Given the description of an element on the screen output the (x, y) to click on. 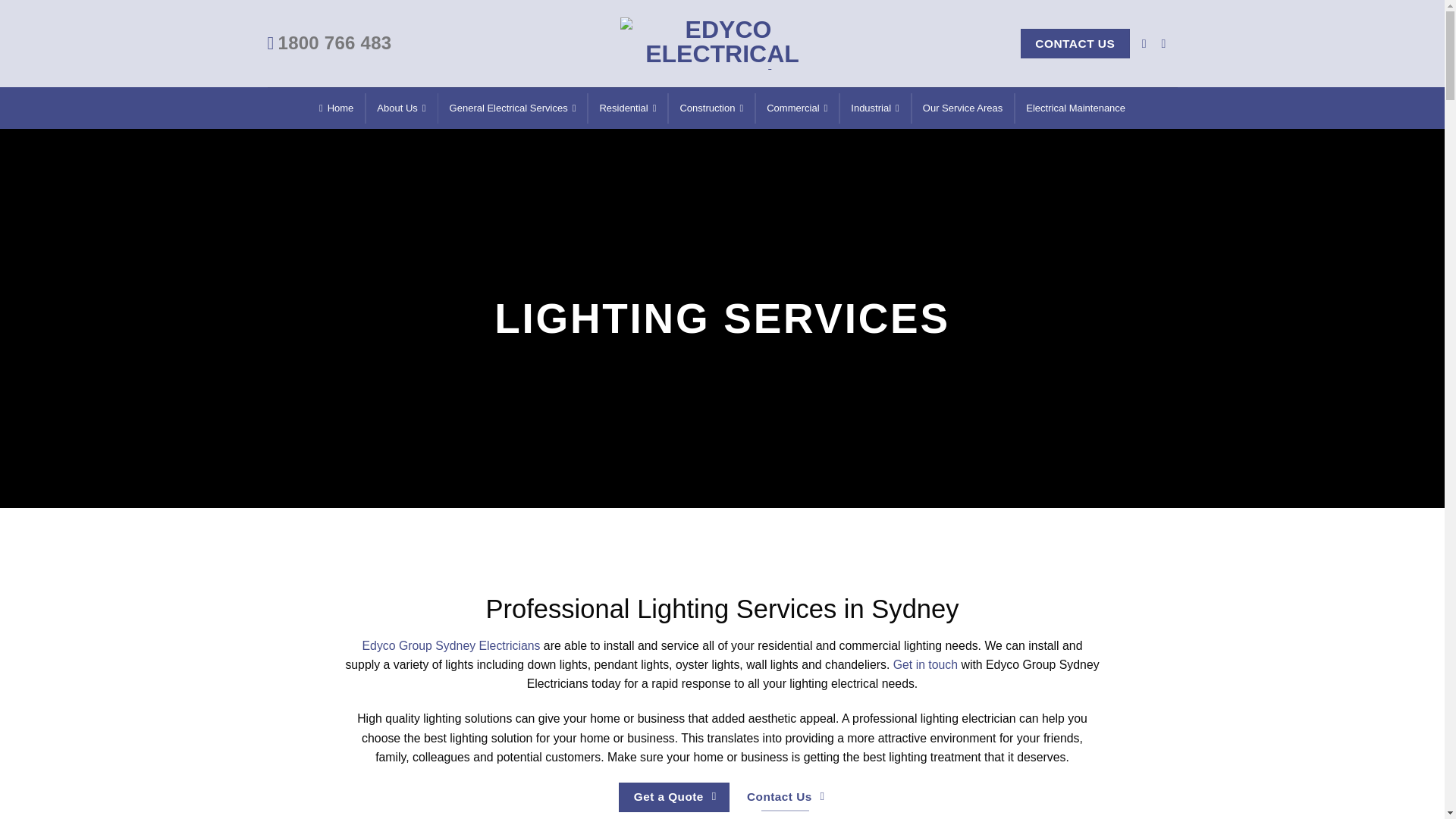
General Electrical Services (513, 107)
1800 766 483 (328, 43)
1800 766 483 (328, 43)
CONTACT US (1074, 43)
About Us (400, 107)
Residential (627, 107)
Home (336, 107)
